Given the description of an element on the screen output the (x, y) to click on. 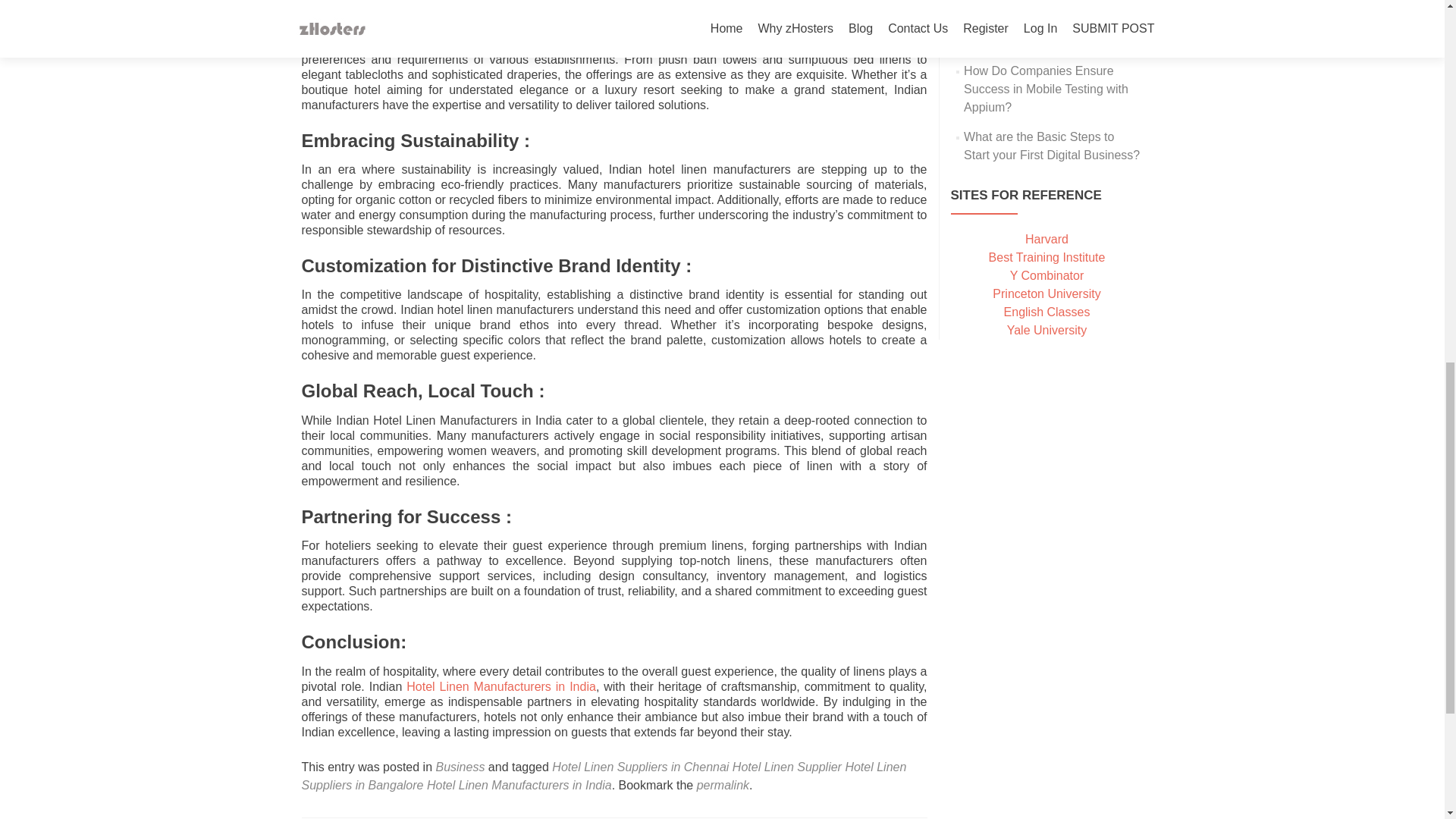
English Classes (1047, 311)
Best Training Institute (1046, 256)
permalink (723, 784)
Harvard (1046, 238)
Hotel Linen Manufacturers in India (500, 686)
What are the Types of Ethical Hacking? (1042, 31)
Business (459, 766)
Y Combinator (1047, 275)
Princeton University (1046, 293)
